Given the description of an element on the screen output the (x, y) to click on. 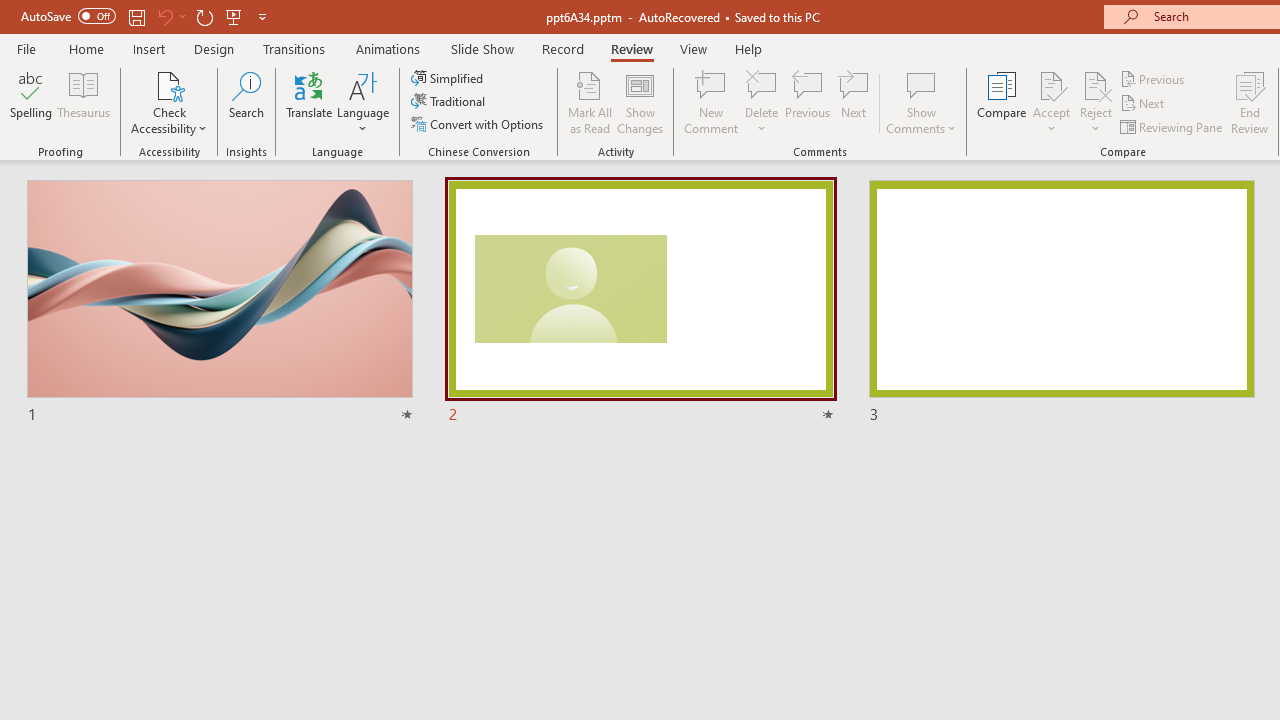
Accept (1051, 102)
Reviewing Pane (1172, 126)
Compare (1002, 102)
